Given the description of an element on the screen output the (x, y) to click on. 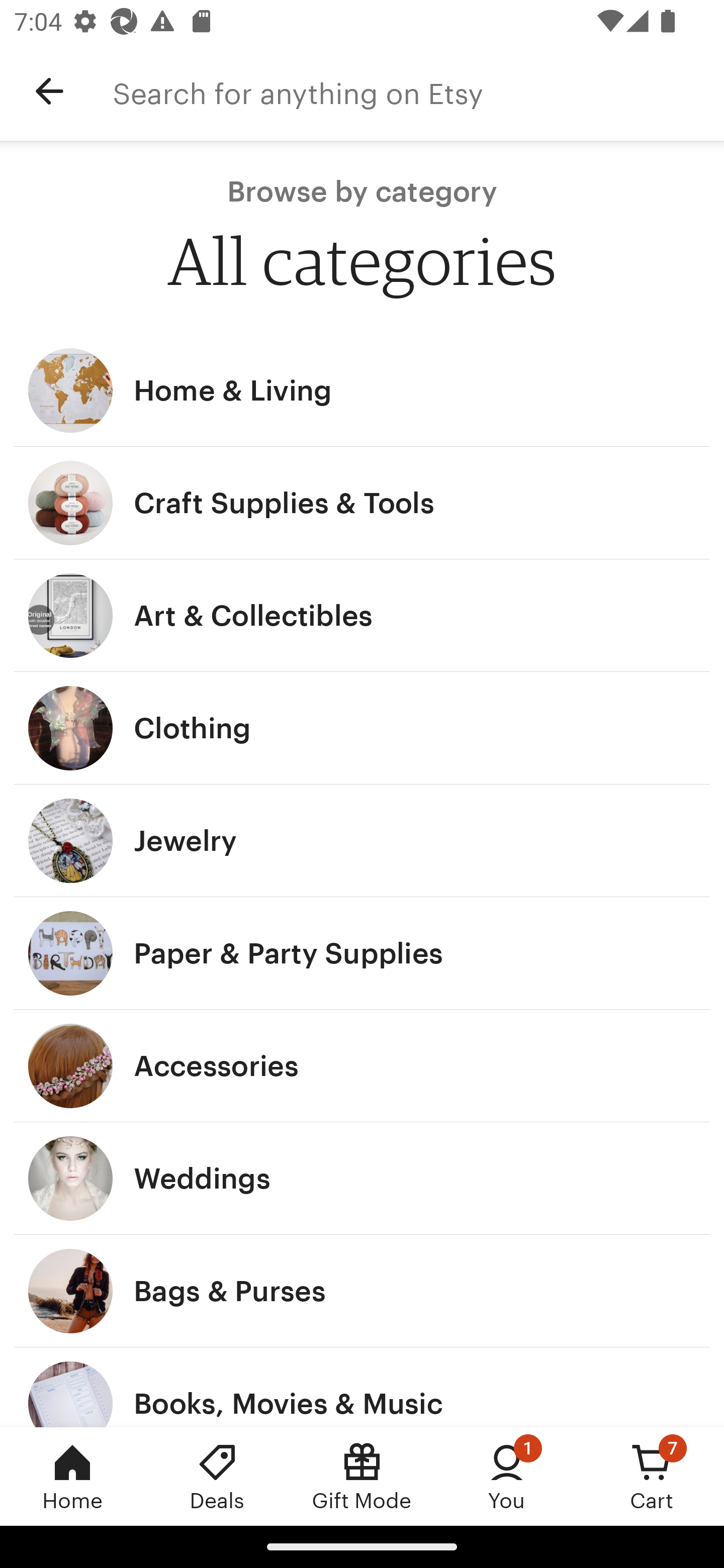
Navigate up (49, 91)
Search for anything on Etsy (418, 91)
Home & Living (361, 389)
Craft Supplies & Tools (361, 502)
Art & Collectibles (361, 615)
Clothing (361, 728)
Jewelry (361, 840)
Paper & Party Supplies (361, 952)
Accessories (361, 1065)
Weddings (361, 1178)
Bags & Purses (361, 1290)
Books, Movies & Music (361, 1386)
Deals (216, 1475)
Gift Mode (361, 1475)
You, 1 new notification You (506, 1475)
Cart, 7 new notifications Cart (651, 1475)
